Given the description of an element on the screen output the (x, y) to click on. 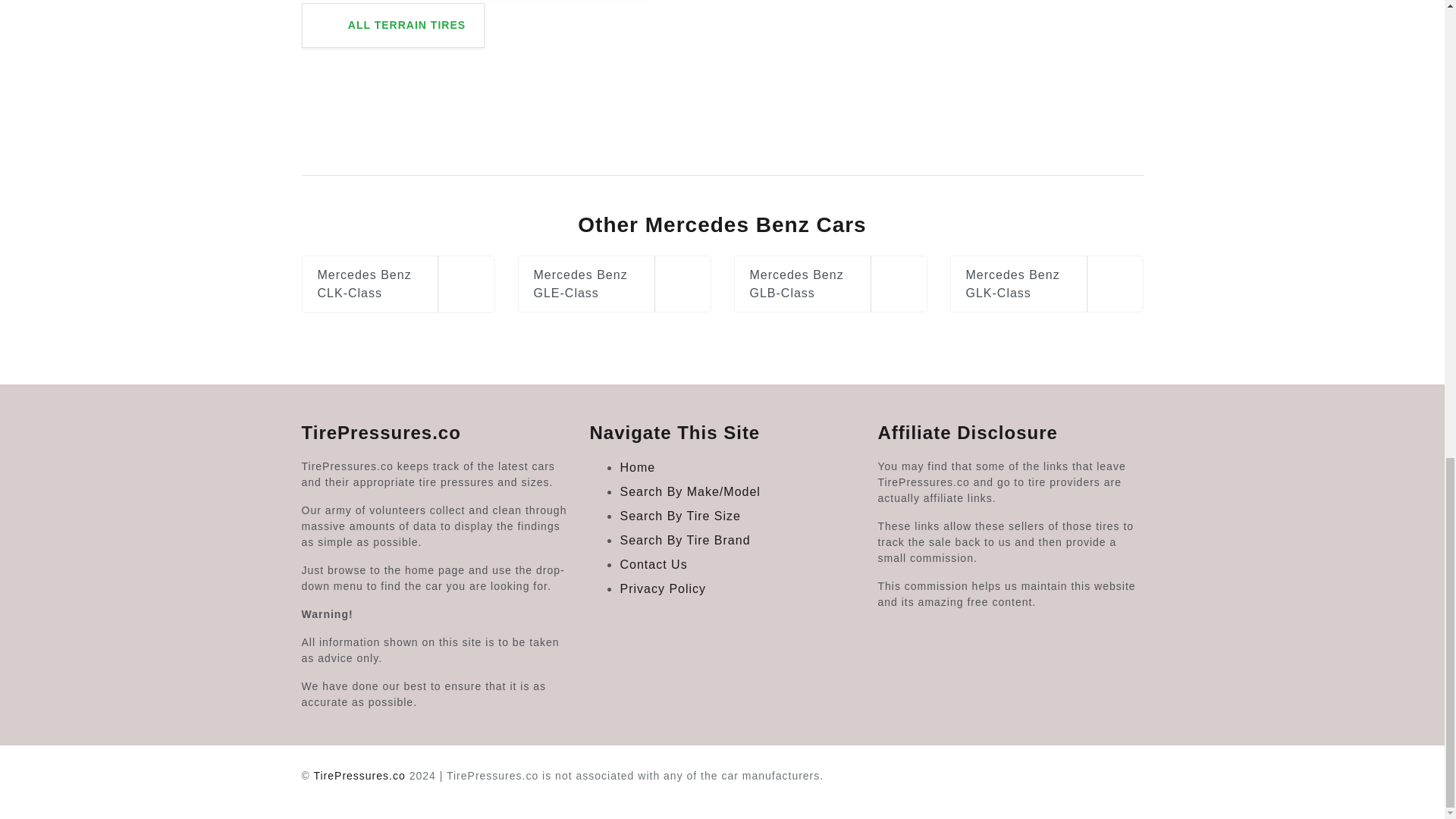
Mercedes Benz GLK-Class (1045, 283)
Home (637, 467)
Mercedes Benz GLE-Class (613, 283)
Mercedes Benz GLB-Class (830, 283)
Mercedes Benz CLK-Class (398, 283)
ALL TERRAIN TIRES (392, 25)
Search By Tire Size (680, 515)
